Given the description of an element on the screen output the (x, y) to click on. 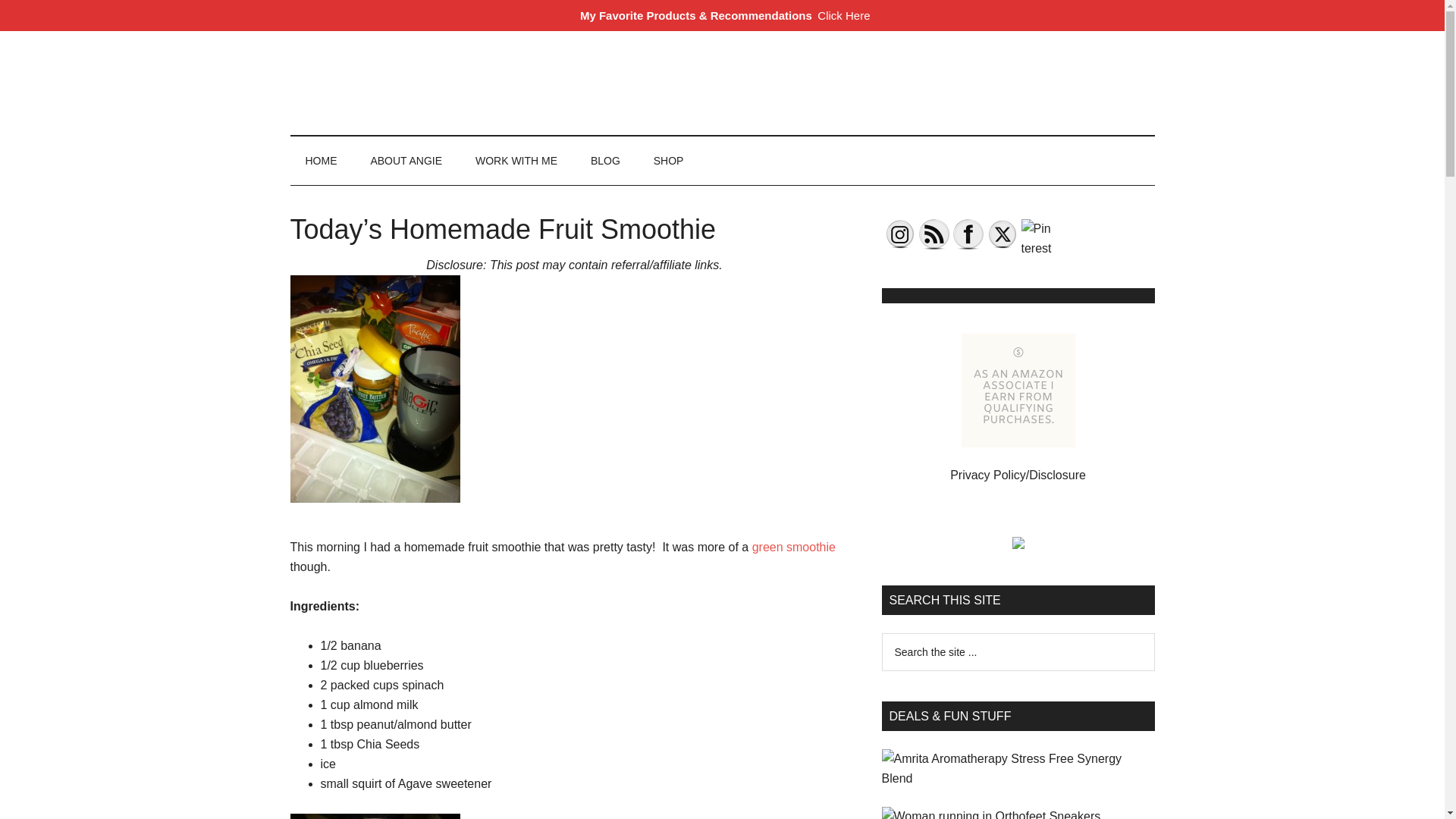
Green Smoothie (793, 546)
Facebook (967, 234)
Her Grand Life (433, 64)
Twitter (1002, 234)
WORK WITH ME (516, 160)
Instagram (898, 234)
SHOP (668, 160)
Blueberry Banana Green Smoothie (374, 816)
ABOUT ANGIE (406, 160)
